Given the description of an element on the screen output the (x, y) to click on. 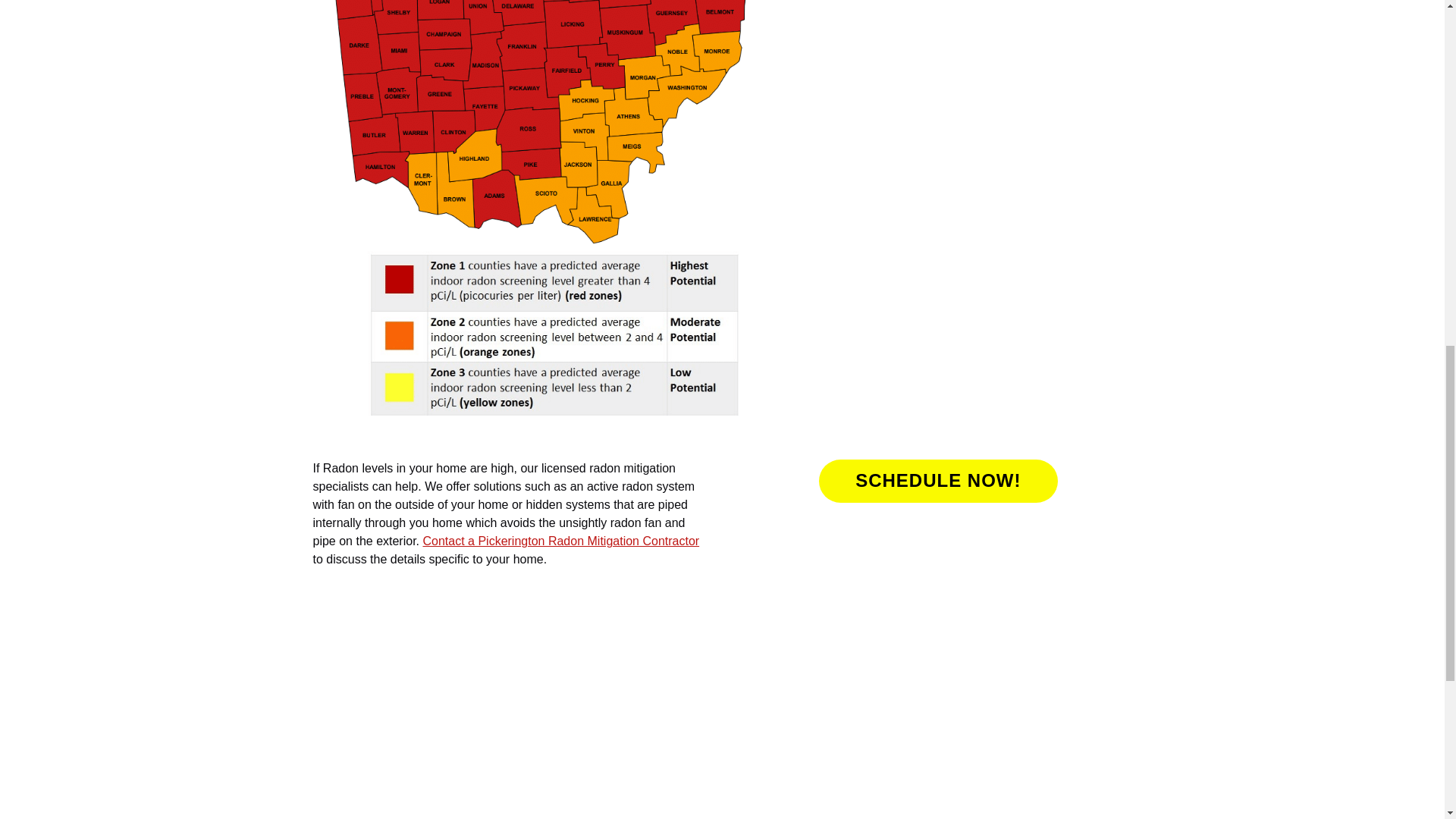
Contact a Pickerington Radon Mitigation Contractor (560, 540)
SCHEDULE NOW! (937, 480)
